Given the description of an element on the screen output the (x, y) to click on. 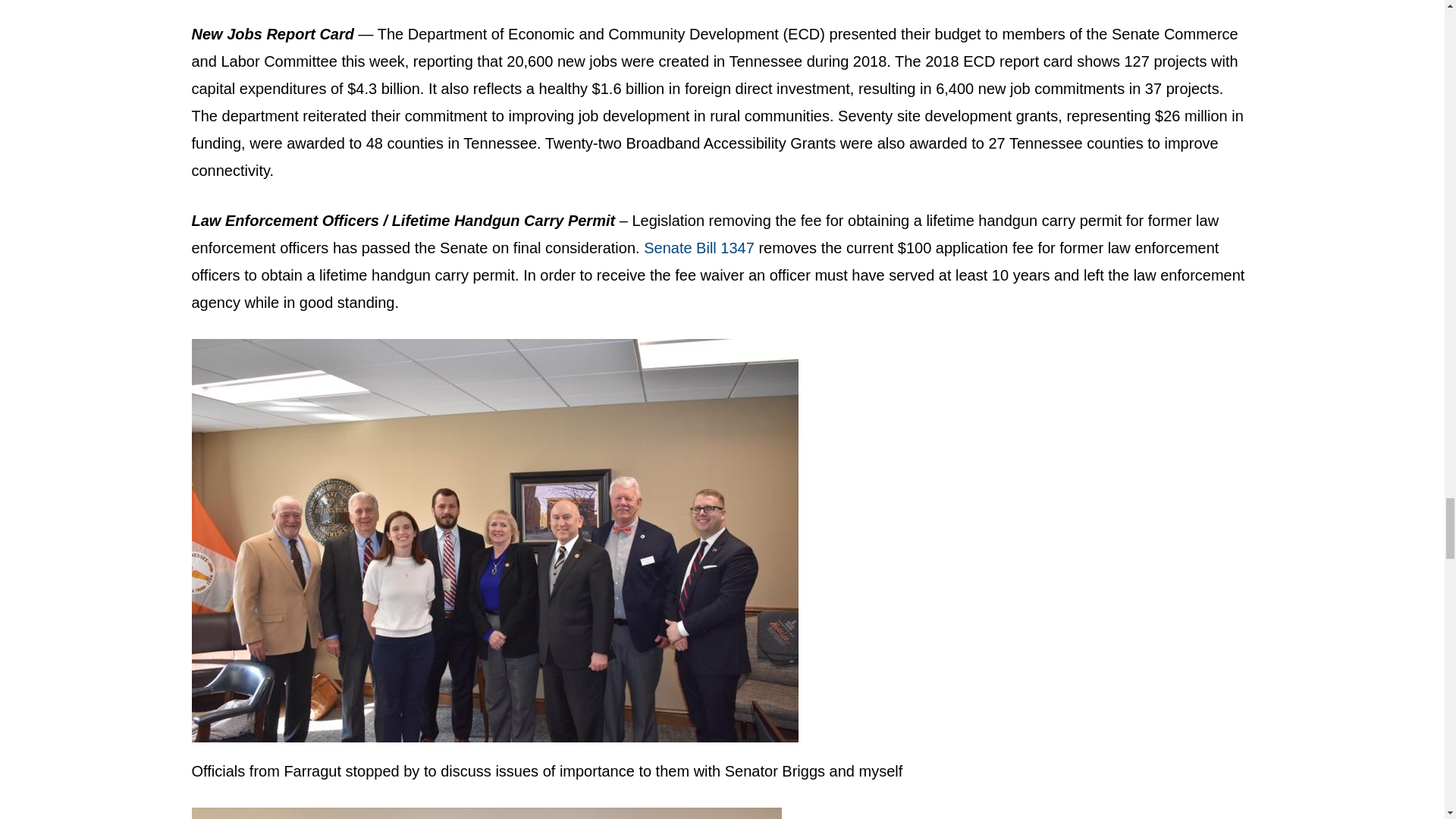
Senate Bill 1347 (698, 247)
